Given the description of an element on the screen output the (x, y) to click on. 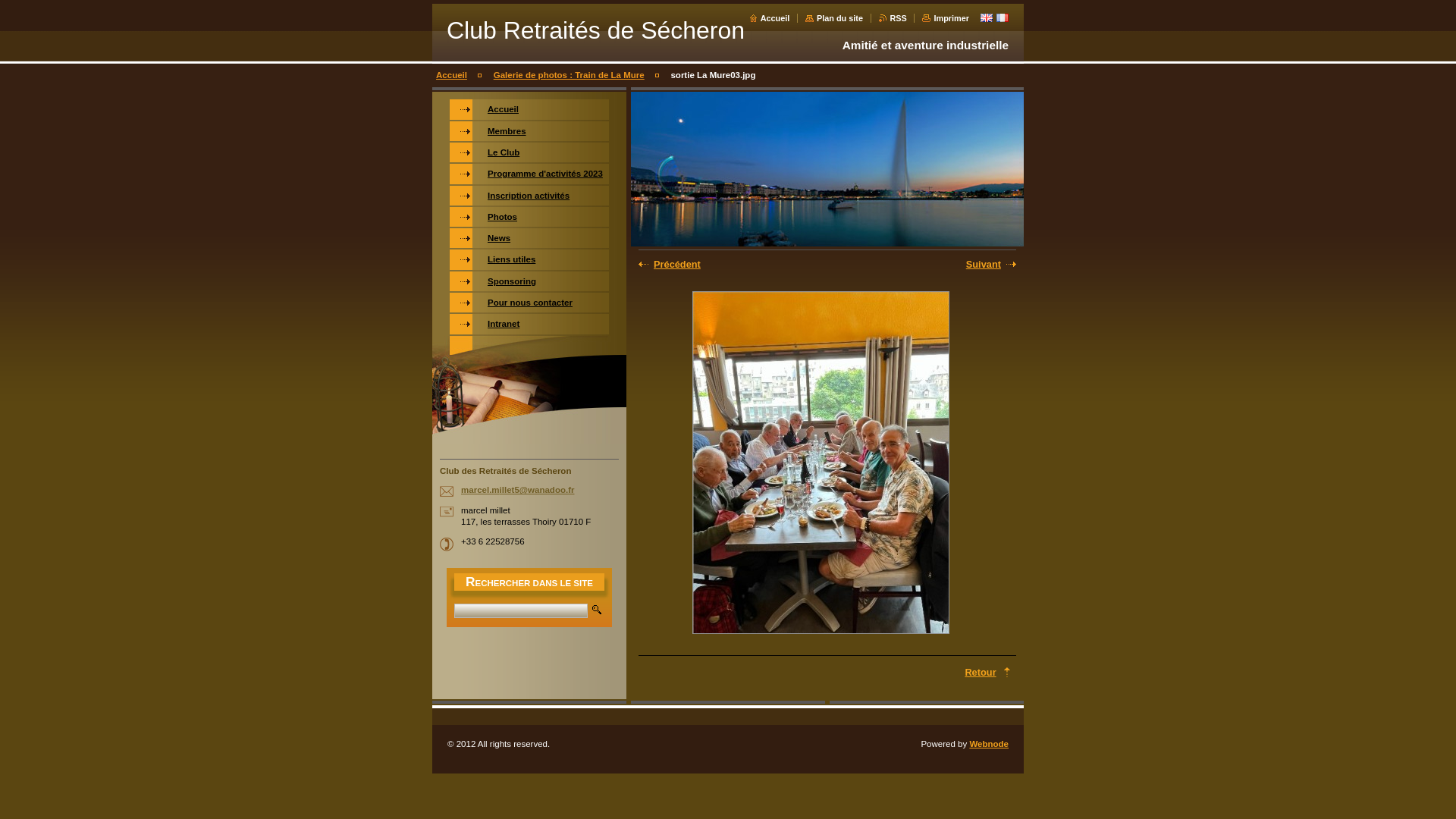
Accueil Element type: text (528, 109)
Sponsoring Element type: text (528, 281)
English Element type: hover (986, 17)
Suivant Element type: text (959, 263)
Plan du site Element type: text (833, 17)
Photos Element type: text (528, 216)
Le Club Element type: text (528, 152)
Imprimer Element type: text (945, 17)
Accueil Element type: text (769, 17)
Intranet Element type: text (528, 323)
RSS Element type: text (892, 17)
Liens utiles Element type: text (528, 259)
Galerie de photos : Train de La Mure Element type: text (568, 74)
Webnode Element type: text (988, 743)
Retour Element type: text (987, 671)
Accueil Element type: text (451, 74)
News Element type: text (528, 237)
marcel.millet5@wanadoo.fr Element type: text (517, 489)
Membres Element type: text (528, 131)
Pour nous contacter Element type: text (528, 302)
